Given the description of an element on the screen output the (x, y) to click on. 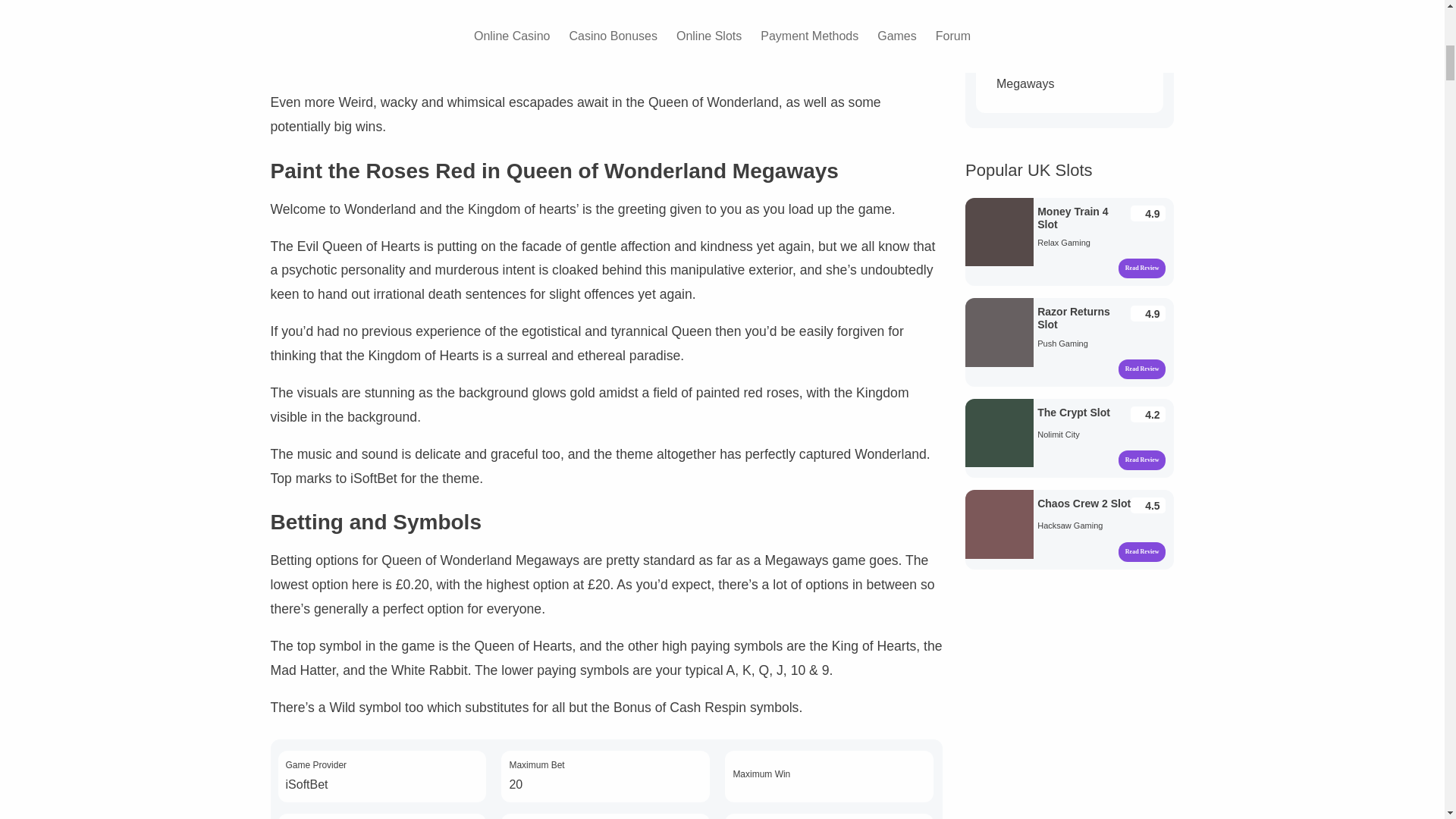
 Read Review (1142, 268)
iSoftBet (306, 784)
 Read Review (1142, 460)
 Read Review (1142, 369)
